Given the description of an element on the screen output the (x, y) to click on. 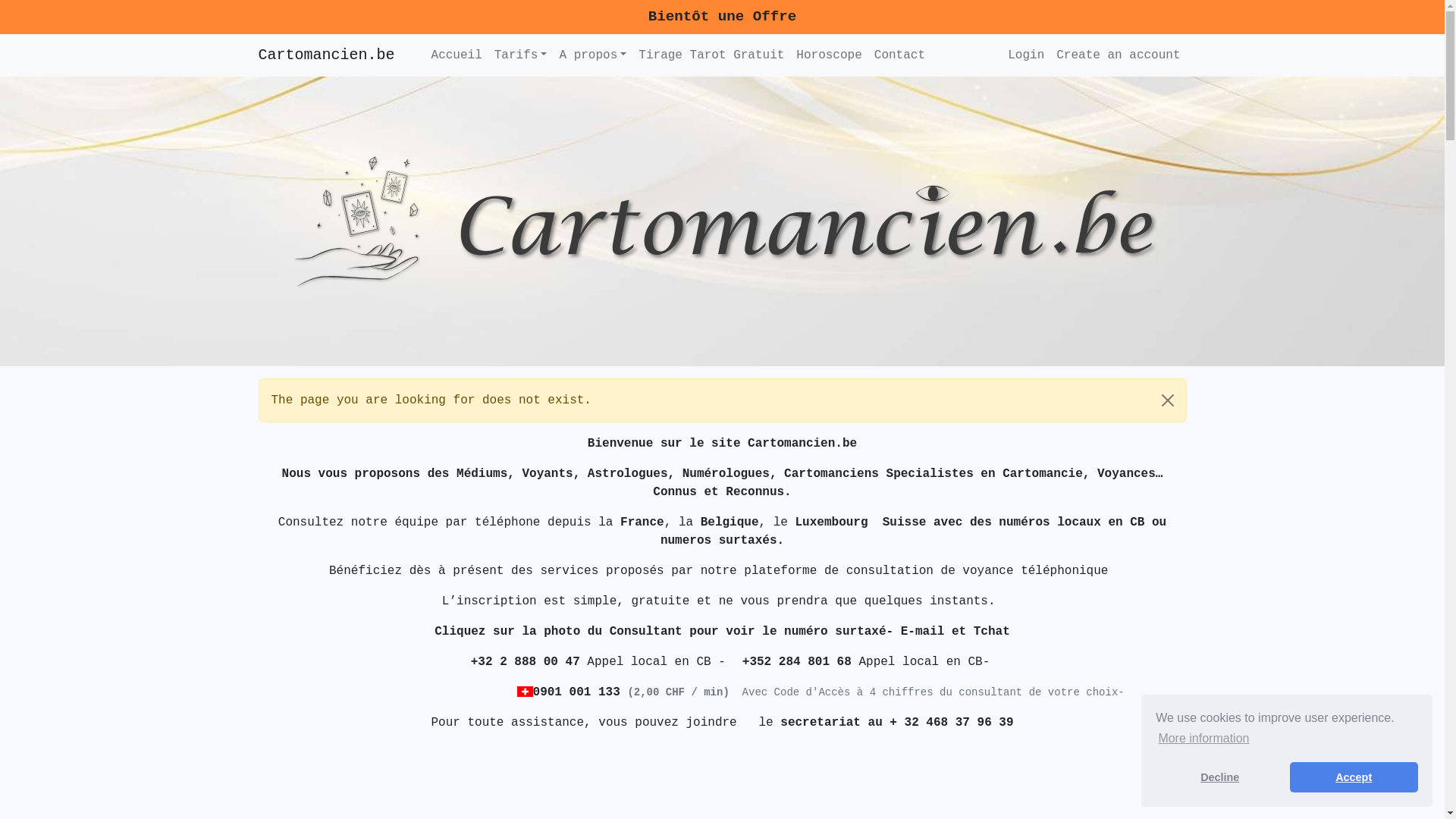
Horoscope Element type: text (828, 55)
Cartomancien.be Element type: text (325, 55)
Decline Element type: text (1219, 777)
More information Element type: text (1203, 738)
A propos Element type: text (592, 55)
Tarifs Element type: text (520, 55)
Accept Element type: text (1353, 777)
Create an account Element type: text (1118, 55)
Tirage Tarot Gratuit Element type: text (711, 55)
Login Element type: text (1025, 55)
Accueil Element type: text (456, 55)
Contact Element type: text (899, 55)
